Given the description of an element on the screen output the (x, y) to click on. 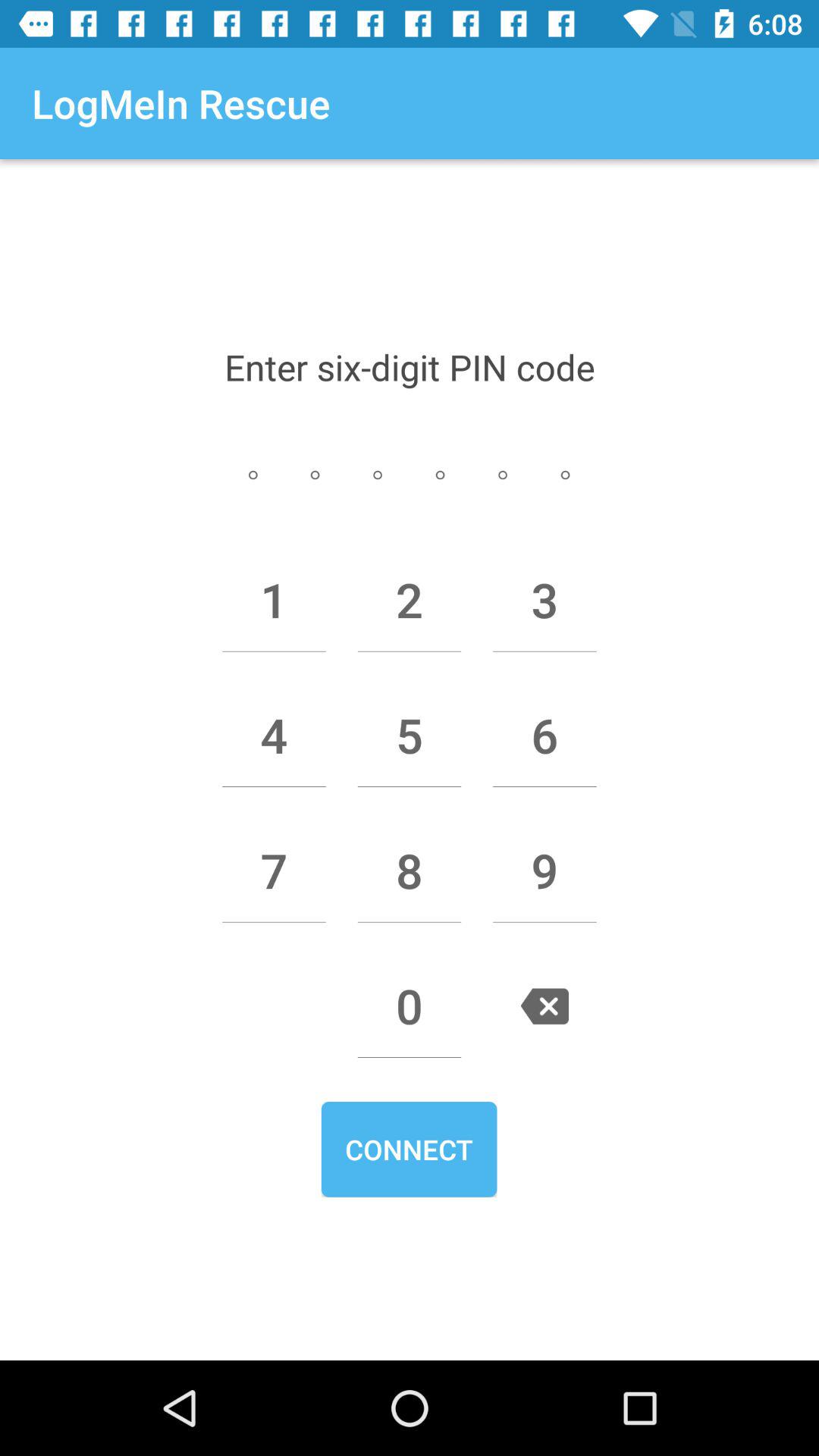
launch item below 1 (273, 735)
